Given the description of an element on the screen output the (x, y) to click on. 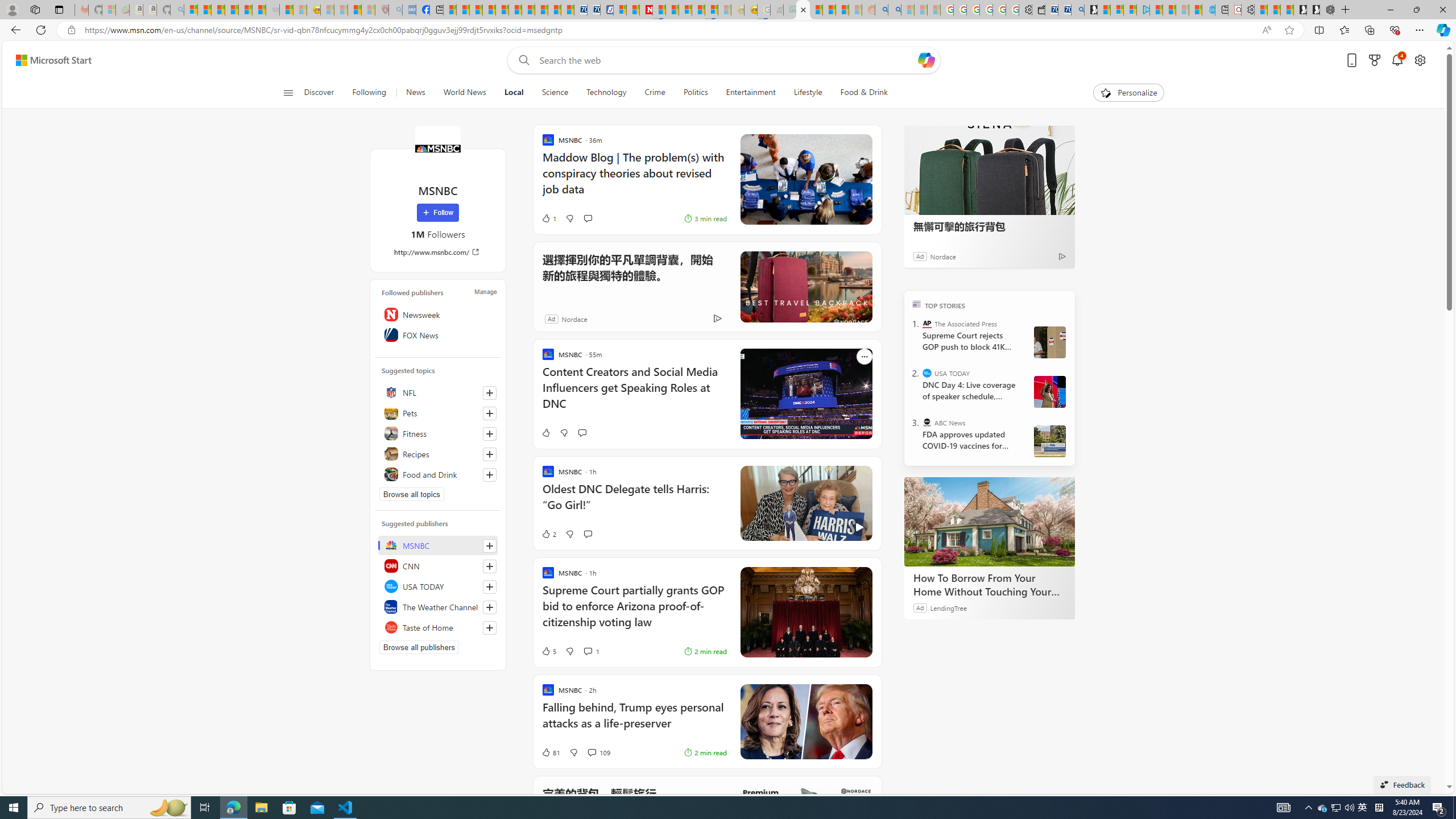
View comments 109 Comment (591, 751)
The Associated Press (927, 323)
